Given the description of an element on the screen output the (x, y) to click on. 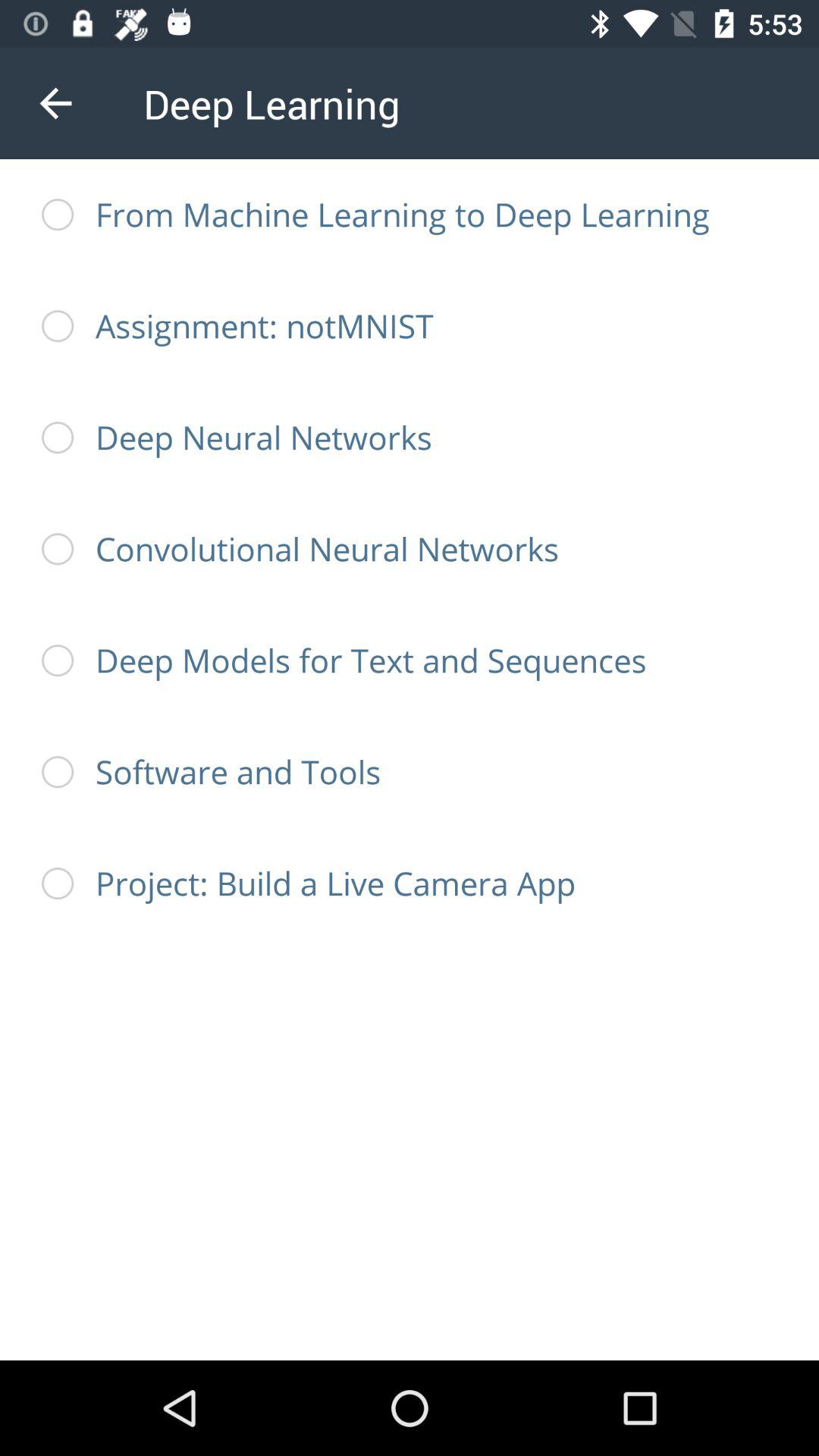
click on second radio button from top (58, 325)
click on the button which is left side of software and tools (58, 772)
